Given the description of an element on the screen output the (x, y) to click on. 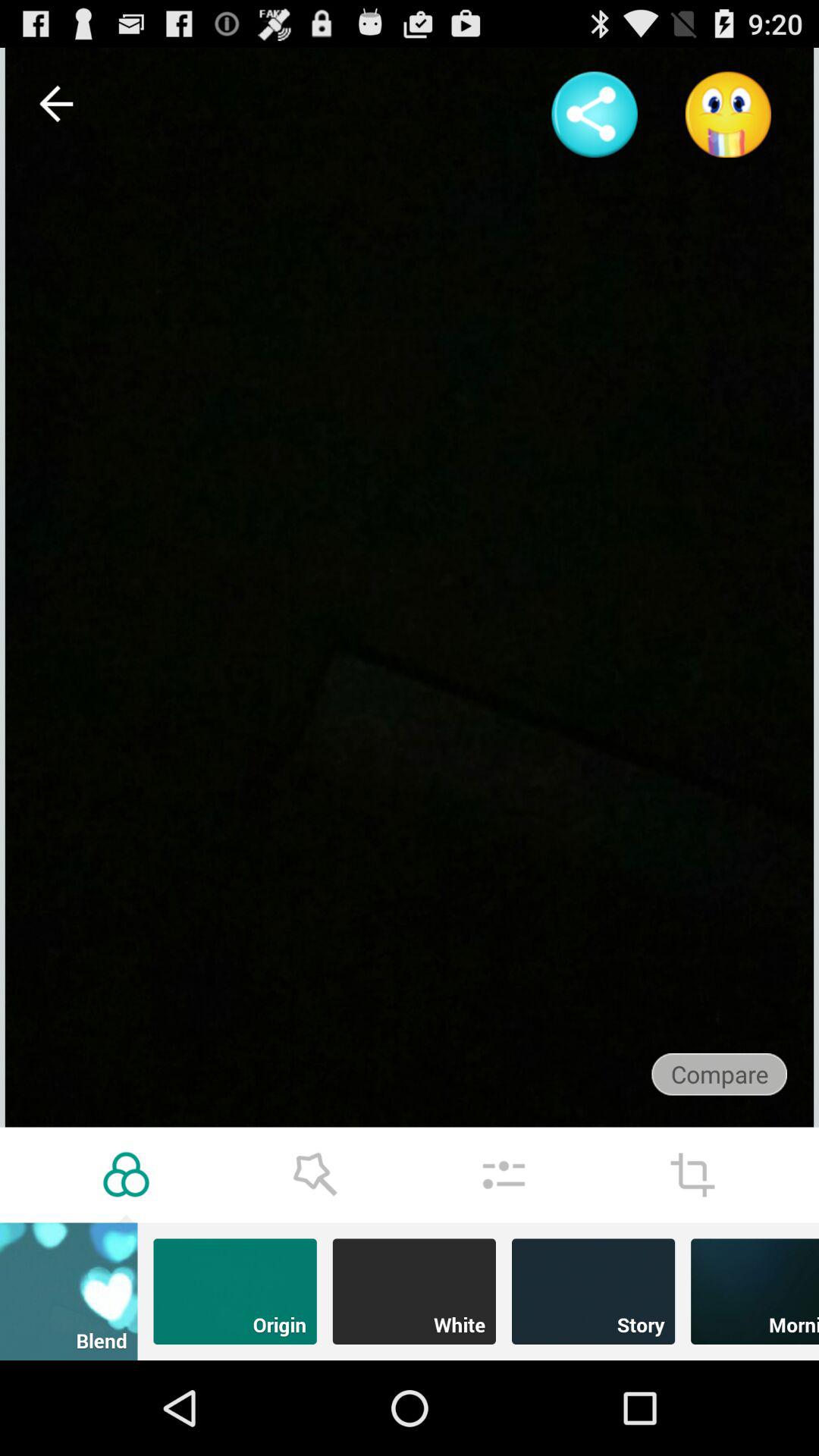
tap item at the top left corner (55, 103)
